Given the description of an element on the screen output the (x, y) to click on. 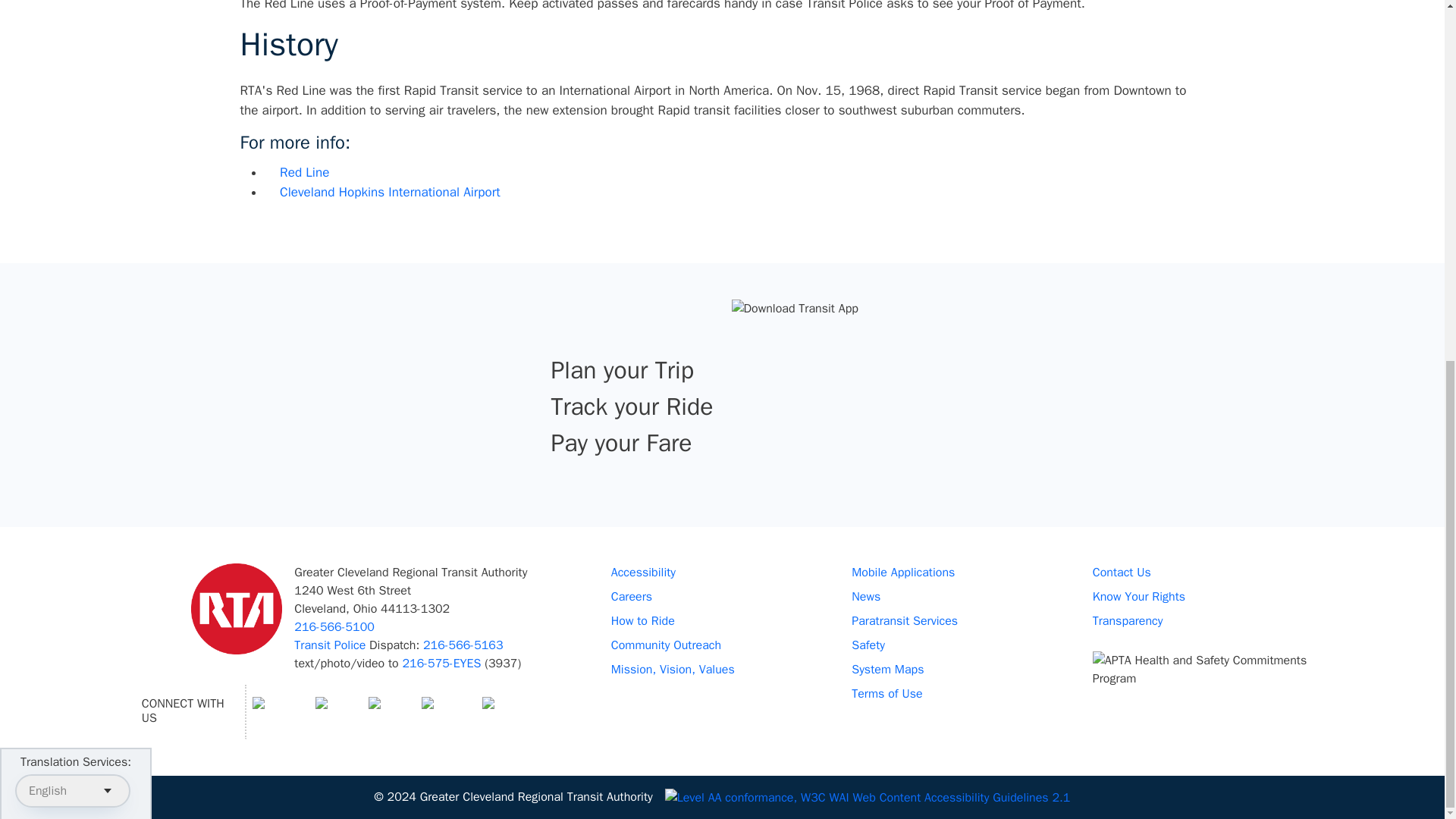
Explanation of WCAG 2 Level AA conformance (867, 796)
